Given the description of an element on the screen output the (x, y) to click on. 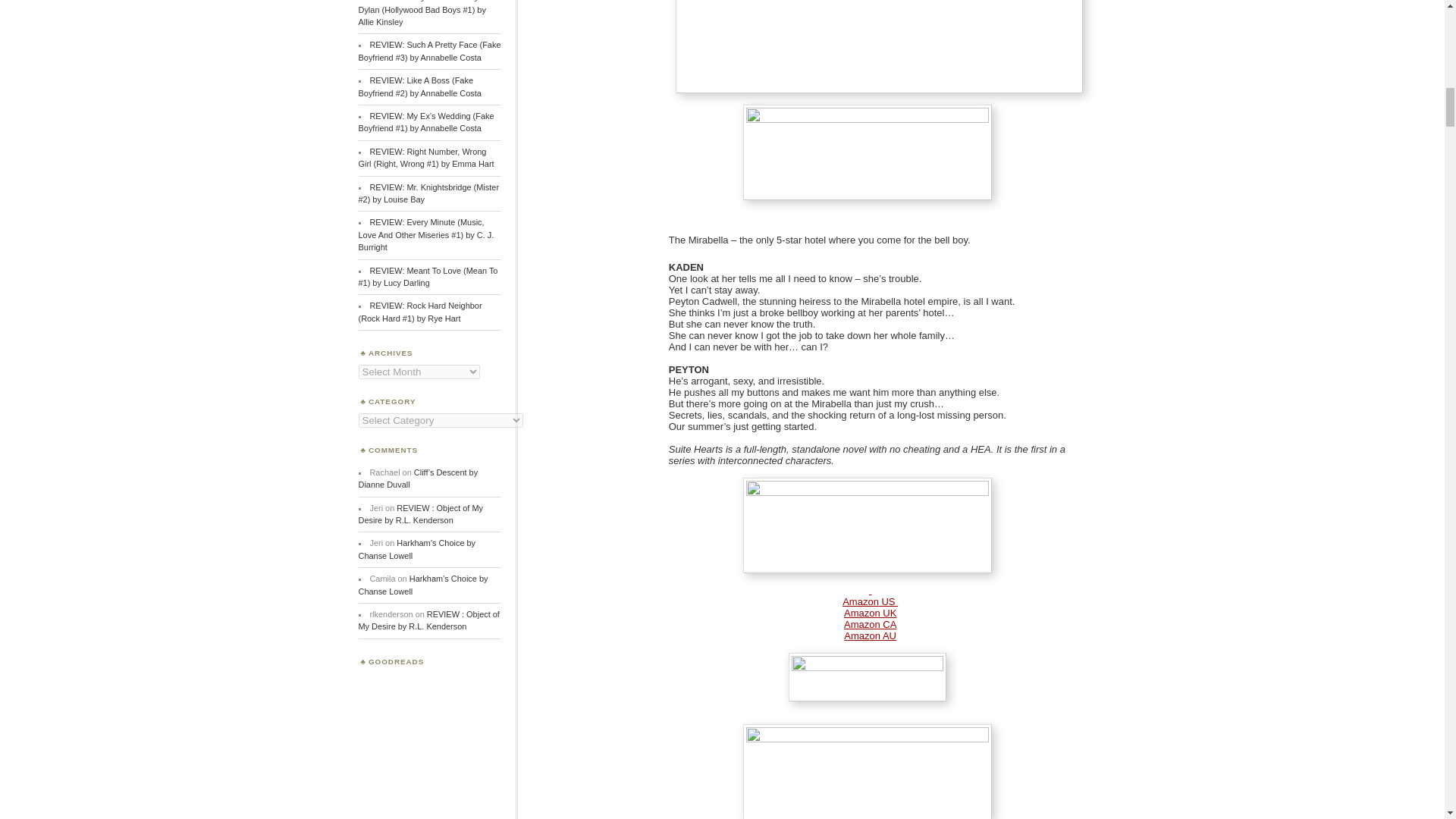
Amazon UK (870, 613)
Amazon CA (870, 624)
Amazon US  (870, 601)
Amazon AU (870, 635)
